Given the description of an element on the screen output the (x, y) to click on. 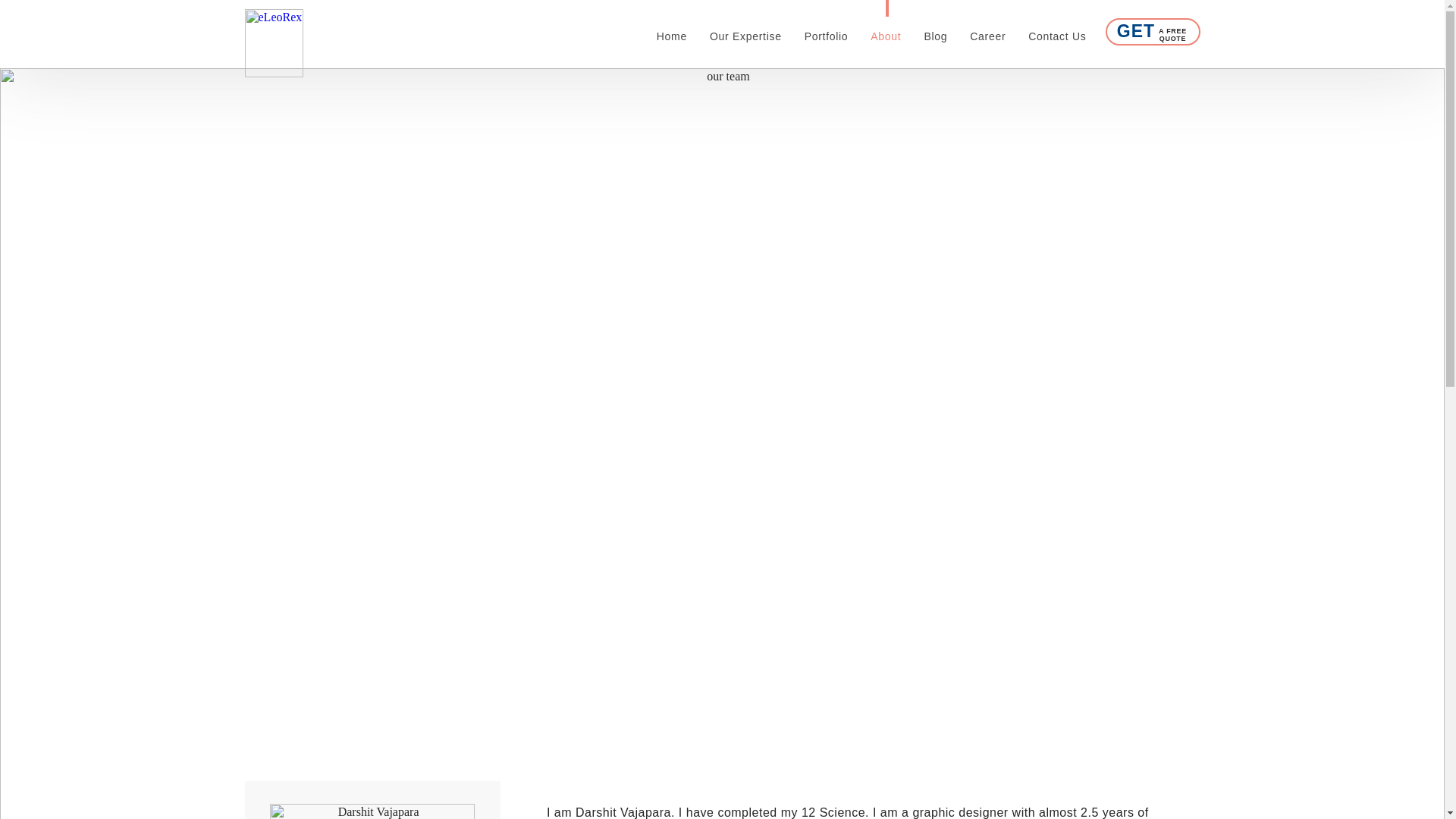
Contact Us (1056, 31)
Career (1152, 31)
Our Expertise (987, 31)
Portfolio (745, 31)
